Given the description of an element on the screen output the (x, y) to click on. 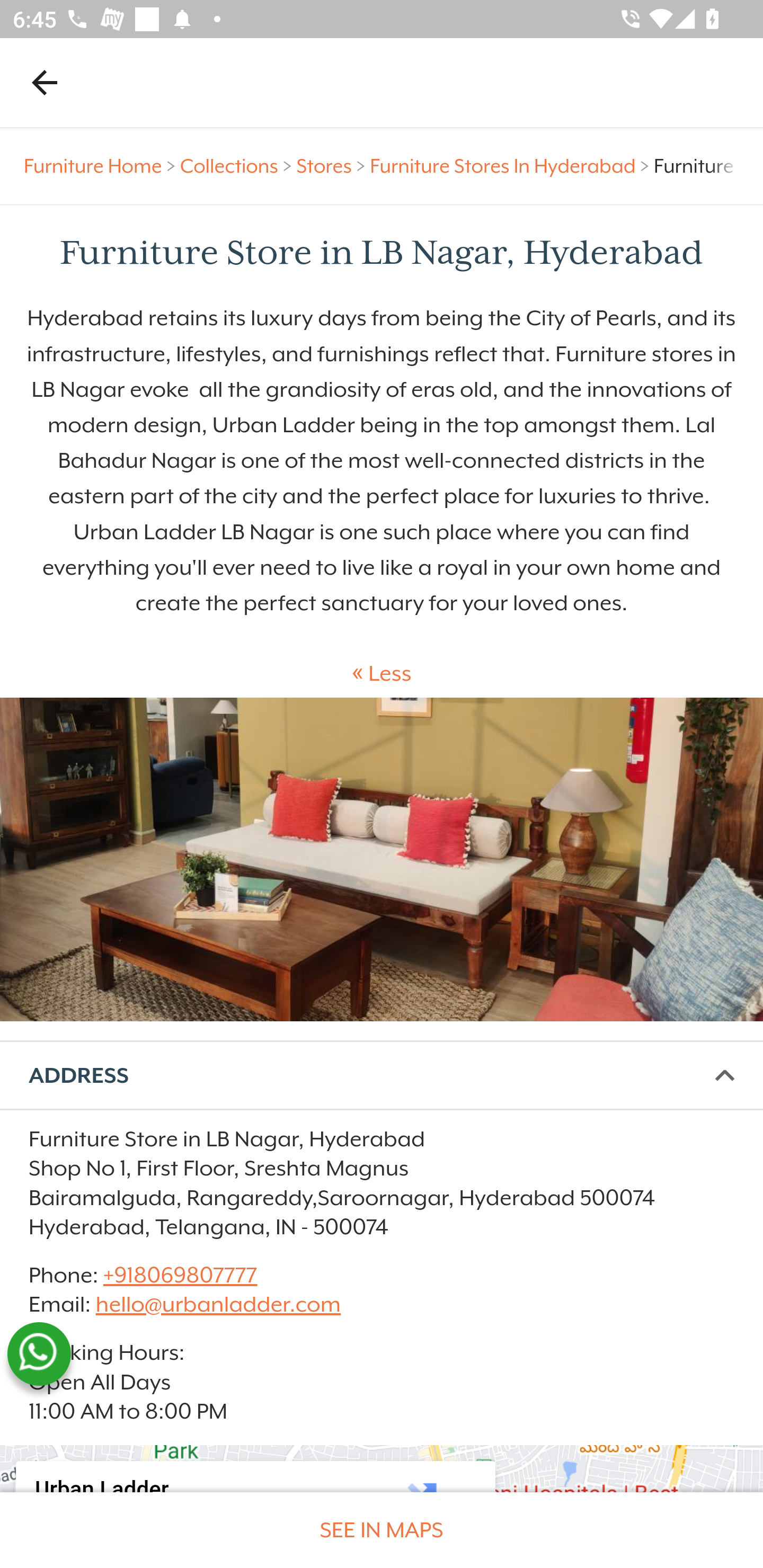
Navigate up (44, 82)
Furniture Home >  Furniture Home  >  (102, 165)
Collections >  Collections  >  (238, 165)
Stores >  Stores  >  (333, 165)
« Less (381, 673)
Experience Centre (381, 859)
ADDRESS (381, 1075)
+918069807777 (179, 1275)
hello@urbanladder.com (218, 1303)
whatsapp (38, 1353)
SEE IN MAPS (381, 1530)
